Given the description of an element on the screen output the (x, y) to click on. 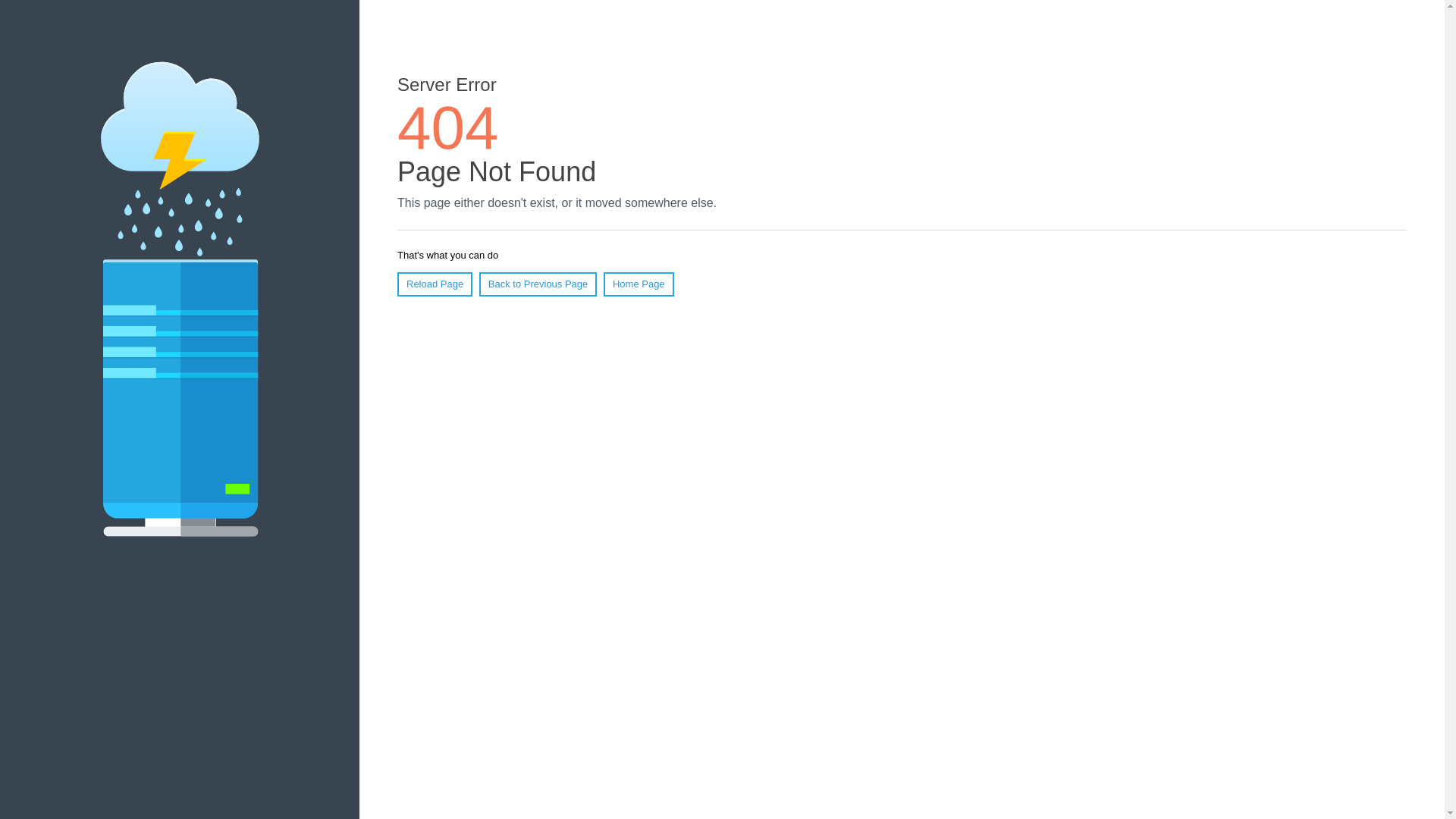
Home Page Element type: text (638, 284)
Reload Page Element type: text (434, 284)
Back to Previous Page Element type: text (538, 284)
